Given the description of an element on the screen output the (x, y) to click on. 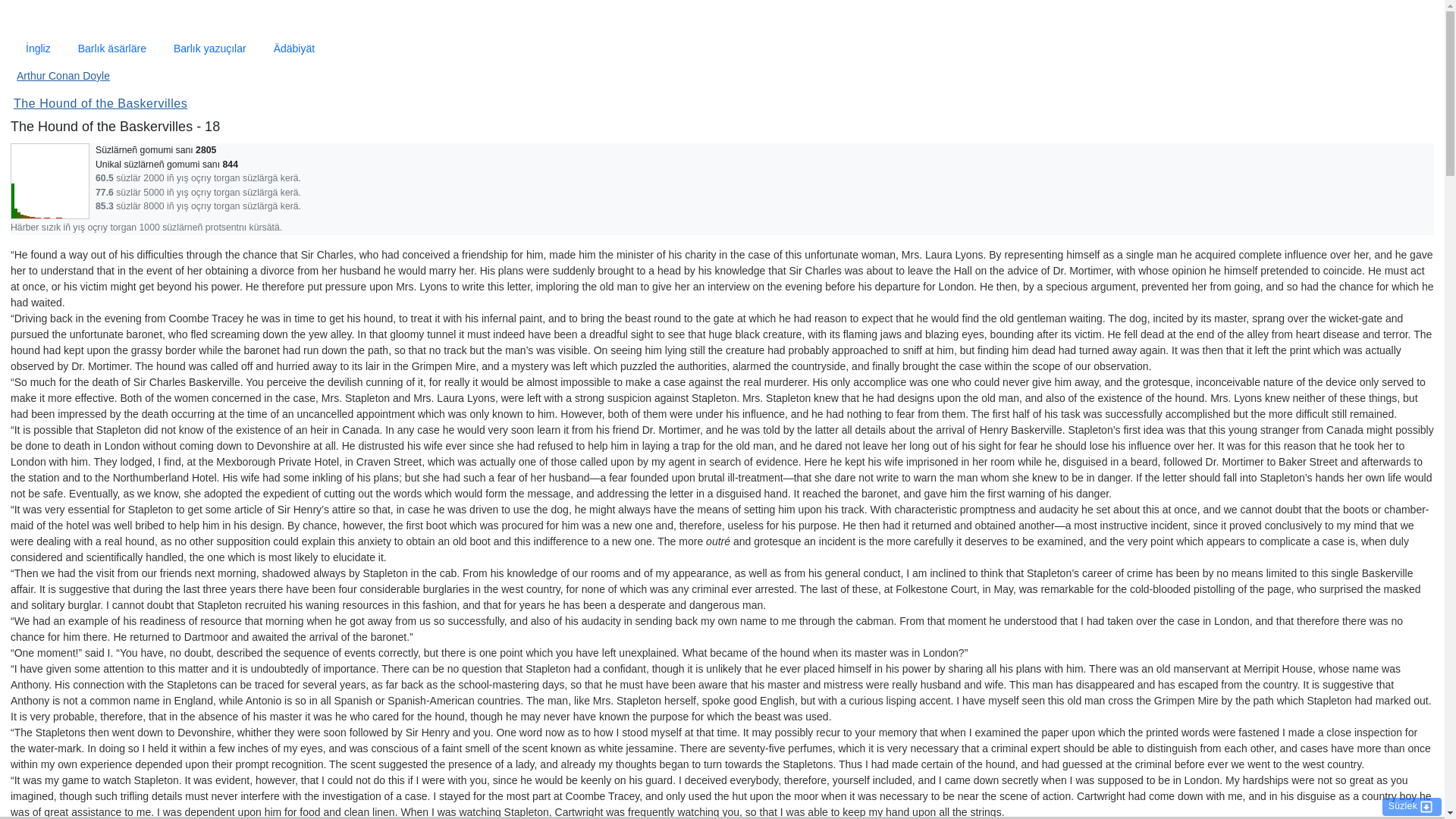
arrow-down-bold-box-outline (1425, 806)
The Hound of the Baskervilles (100, 103)
Arthur Conan Doyle (63, 75)
